Given the description of an element on the screen output the (x, y) to click on. 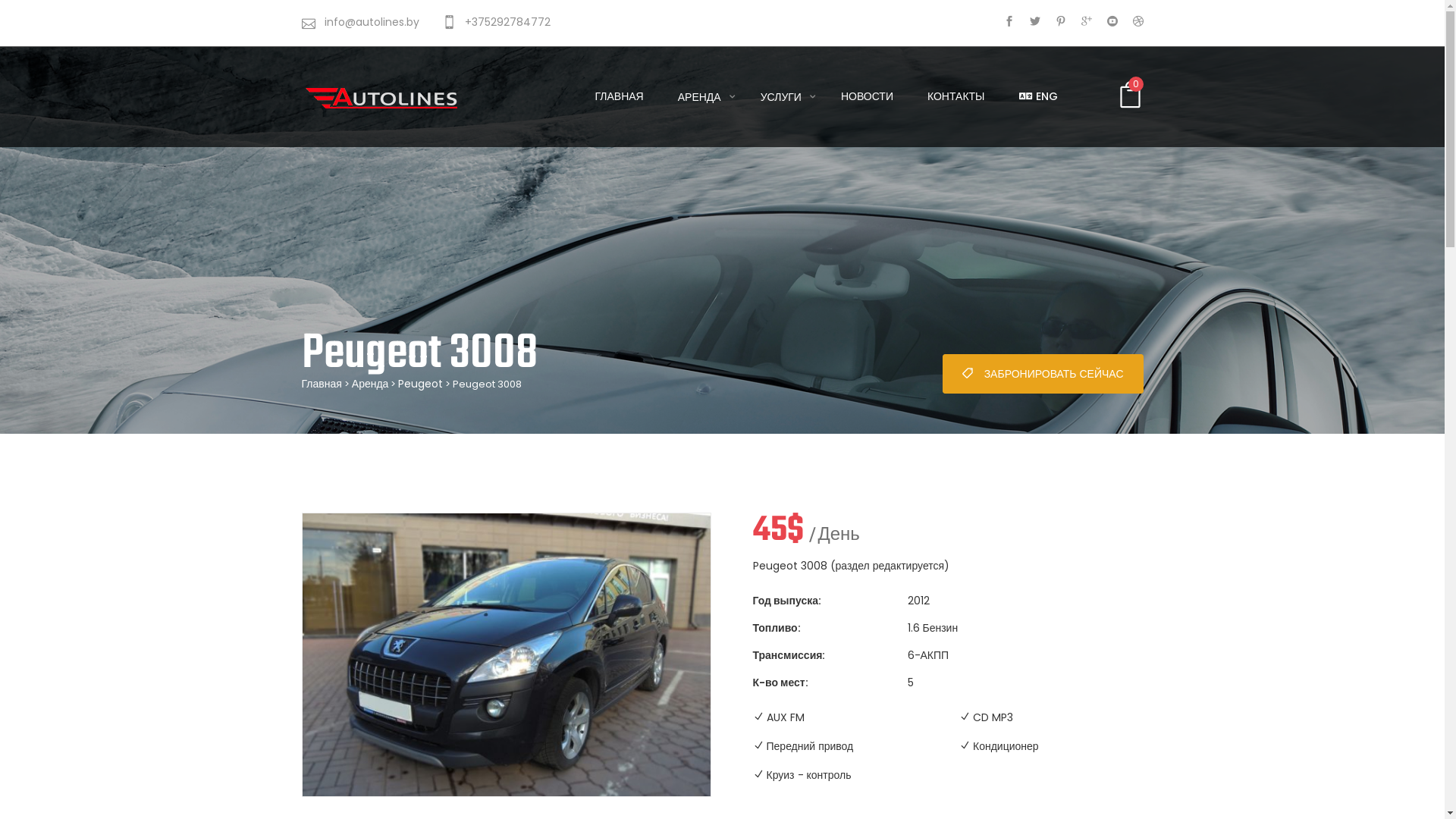
Peugeot Element type: text (420, 383)
ENG Element type: text (1043, 96)
